Given the description of an element on the screen output the (x, y) to click on. 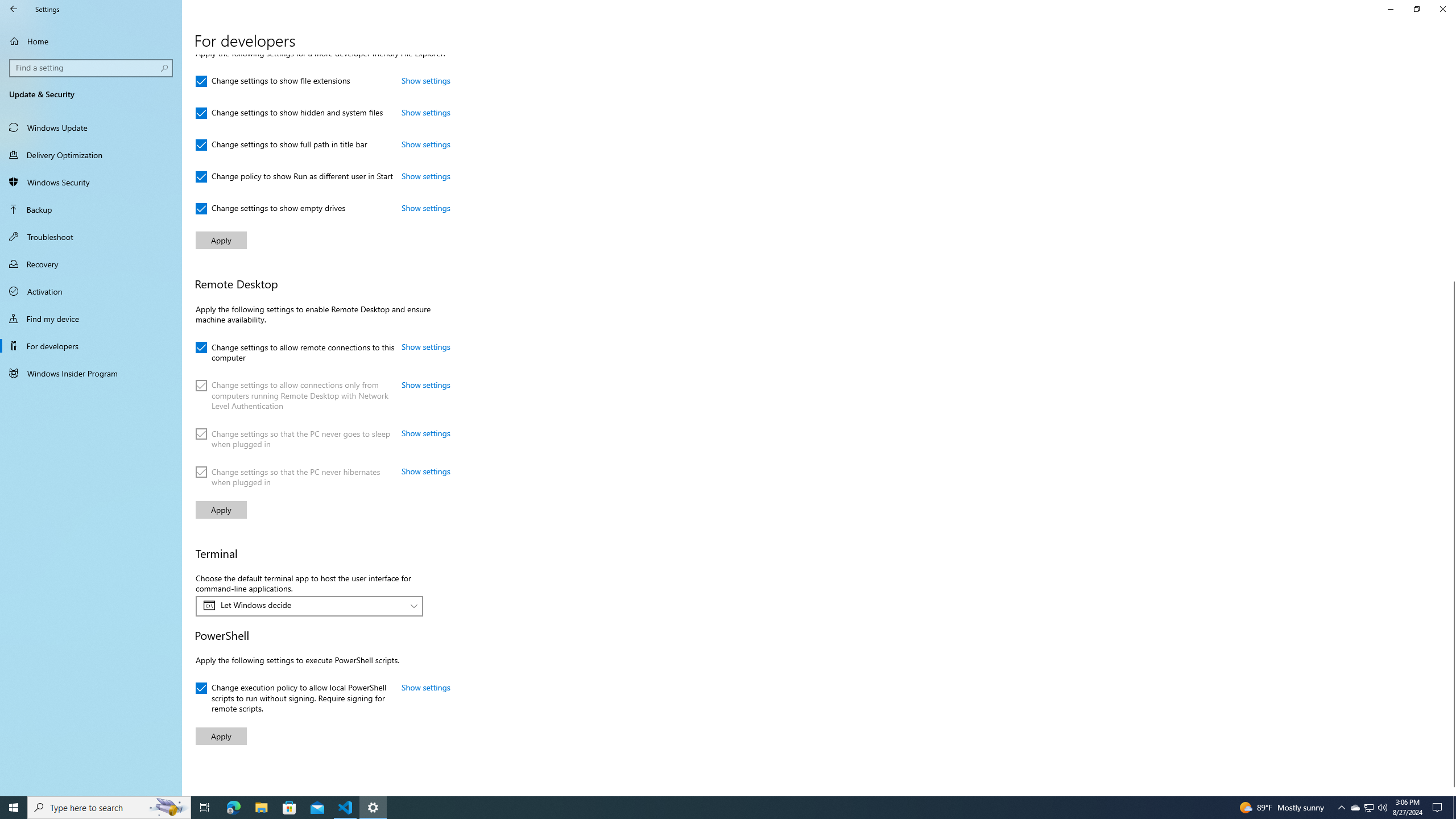
Vertical (1451, 425)
Back (13, 9)
Backup (91, 208)
Troubleshoot (91, 236)
Windows Update (91, 126)
Vertical Small Increase (1451, 791)
File Explorer (261, 807)
Q2790: 100% (1382, 807)
Show settings: Change settings to show empty drives (425, 207)
Change settings to show empty drives (270, 208)
